Given the description of an element on the screen output the (x, y) to click on. 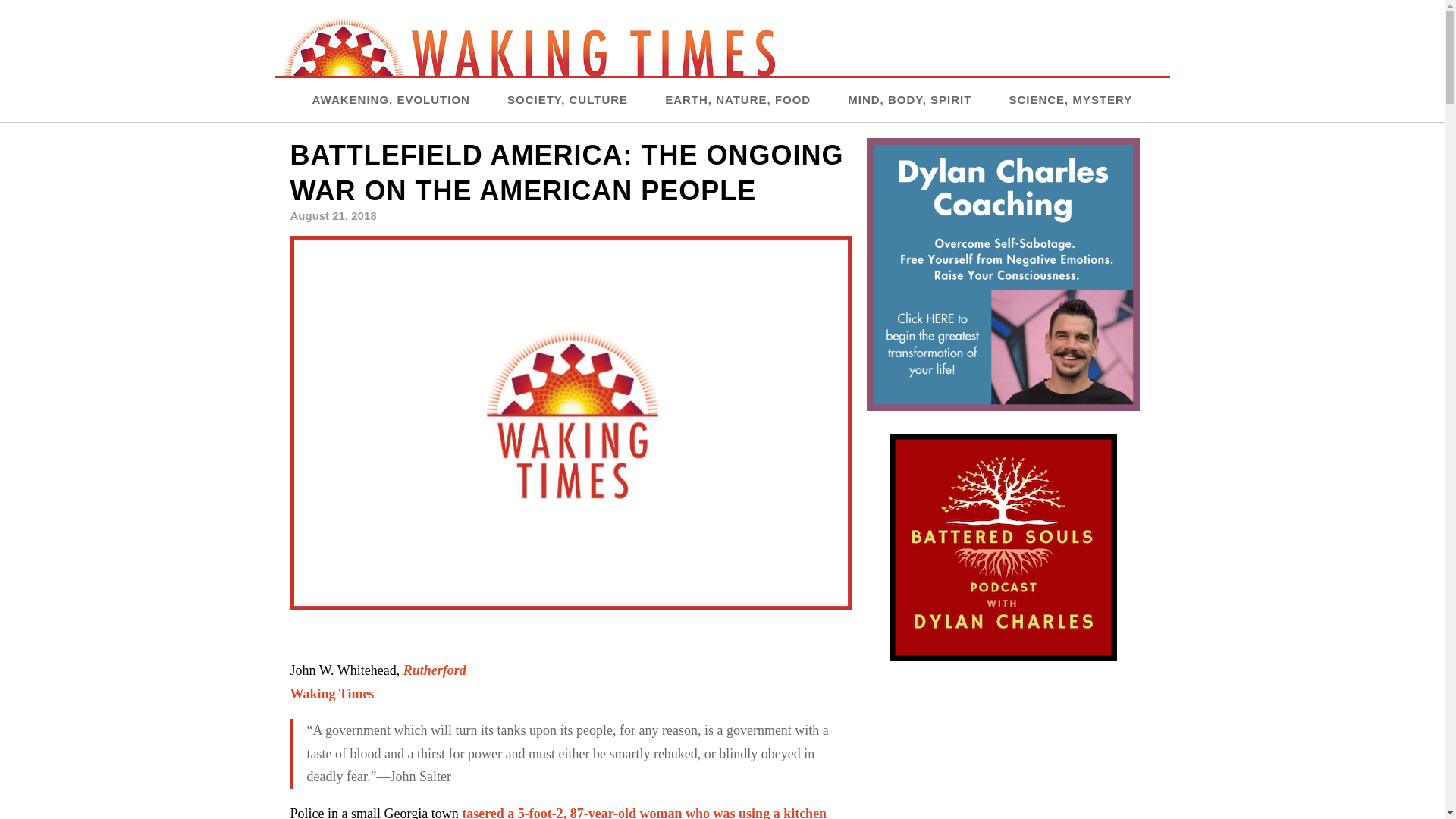
SCIENCE, MYSTERY (1070, 99)
EARTH, NATURE, FOOD (737, 99)
SOCIETY, CULTURE (566, 99)
Battlefield America: The Ongoing War on the American People (569, 420)
AWAKENING, EVOLUTION (391, 99)
Waking Times (331, 693)
MIND, BODY, SPIRIT (909, 99)
Rutherford (434, 670)
